Given the description of an element on the screen output the (x, y) to click on. 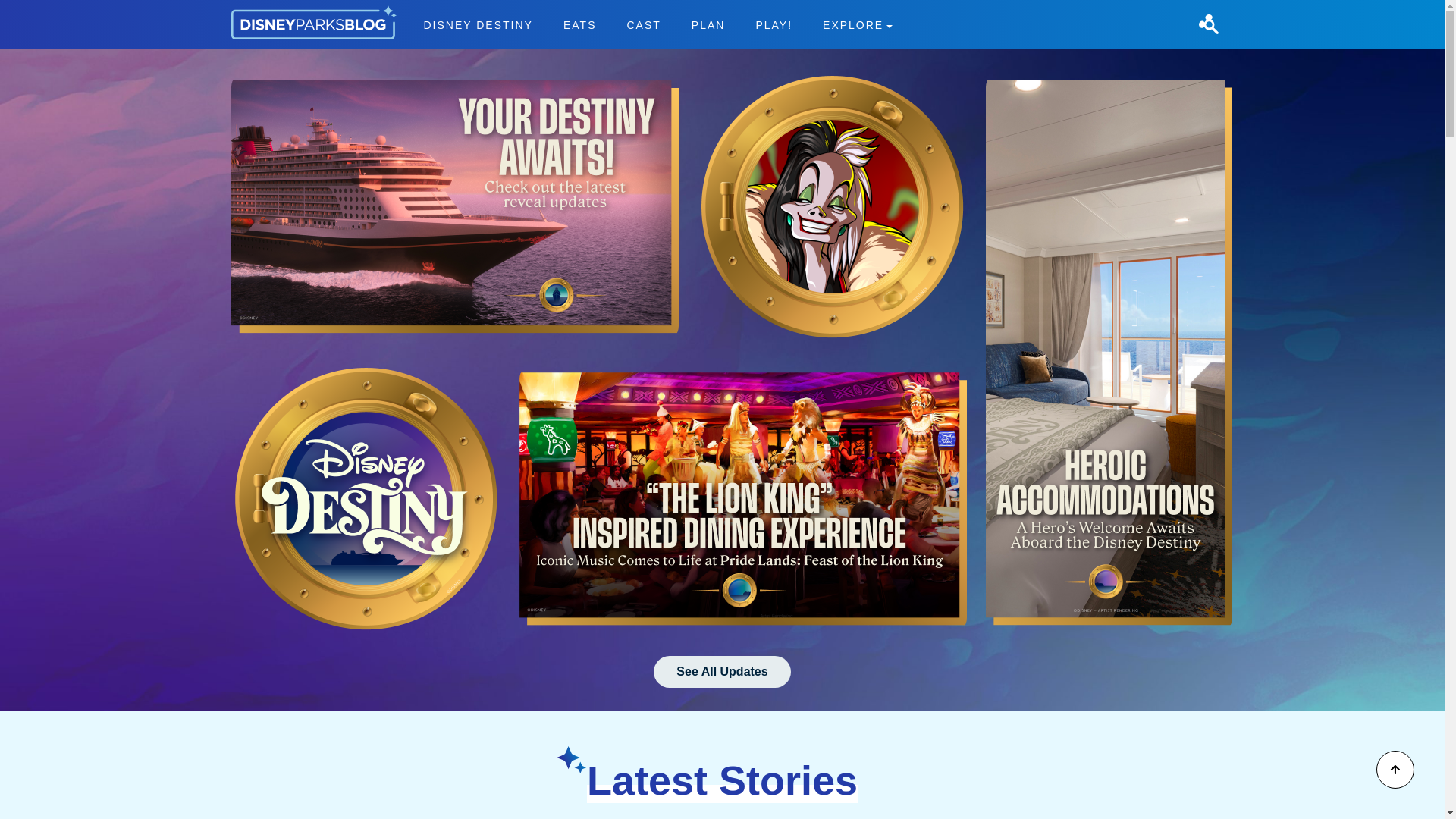
PLAN (708, 23)
EXPLORE (857, 23)
EATS (579, 23)
See All Updates (721, 671)
Skip to content (40, 8)
PLAY! (773, 23)
CAST (657, 23)
DISNEY DESTINY (643, 23)
